Given the description of an element on the screen output the (x, y) to click on. 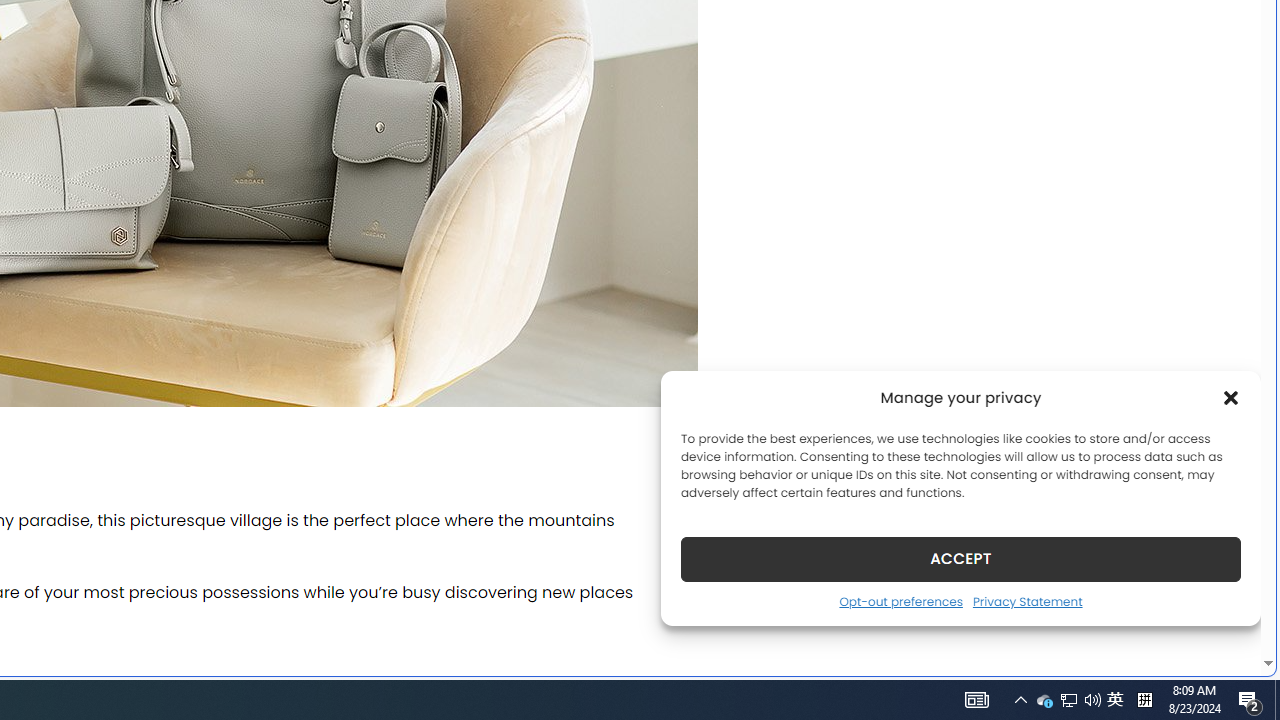
Class: cmplz-close (1231, 397)
Privacy Statement (1026, 601)
google_privacy_policy_zh-CN.pdf (687, 482)
MSN (687, 223)
Opt-out preferences (900, 601)
ACCEPT (960, 558)
